Given the description of an element on the screen output the (x, y) to click on. 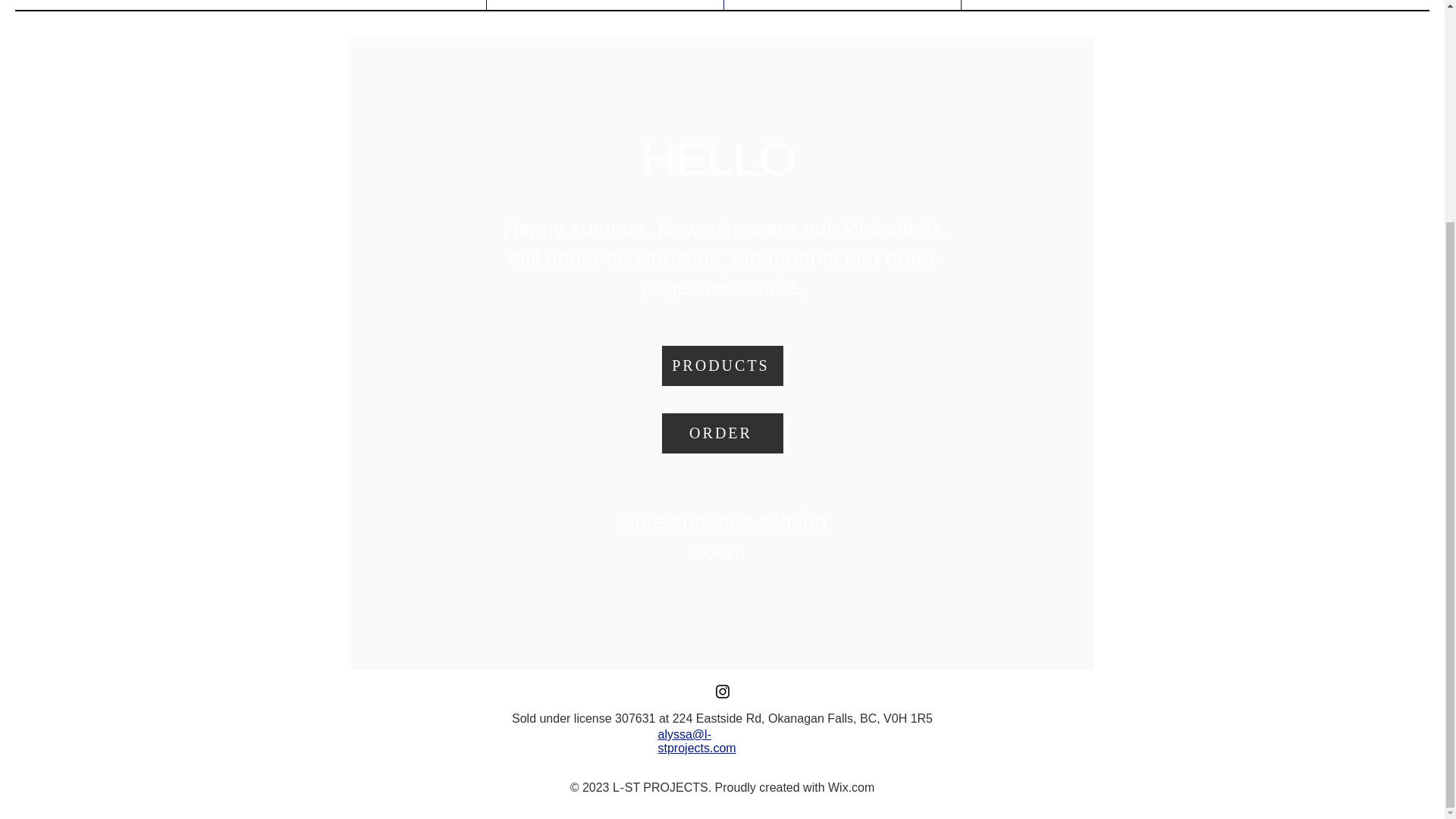
PRODUCTS (603, 4)
ORDER (722, 433)
WHOLESALE (1077, 4)
PRODUCTS (722, 365)
ORDER (841, 4)
STORY (367, 4)
Wix.com (851, 787)
